Given the description of an element on the screen output the (x, y) to click on. 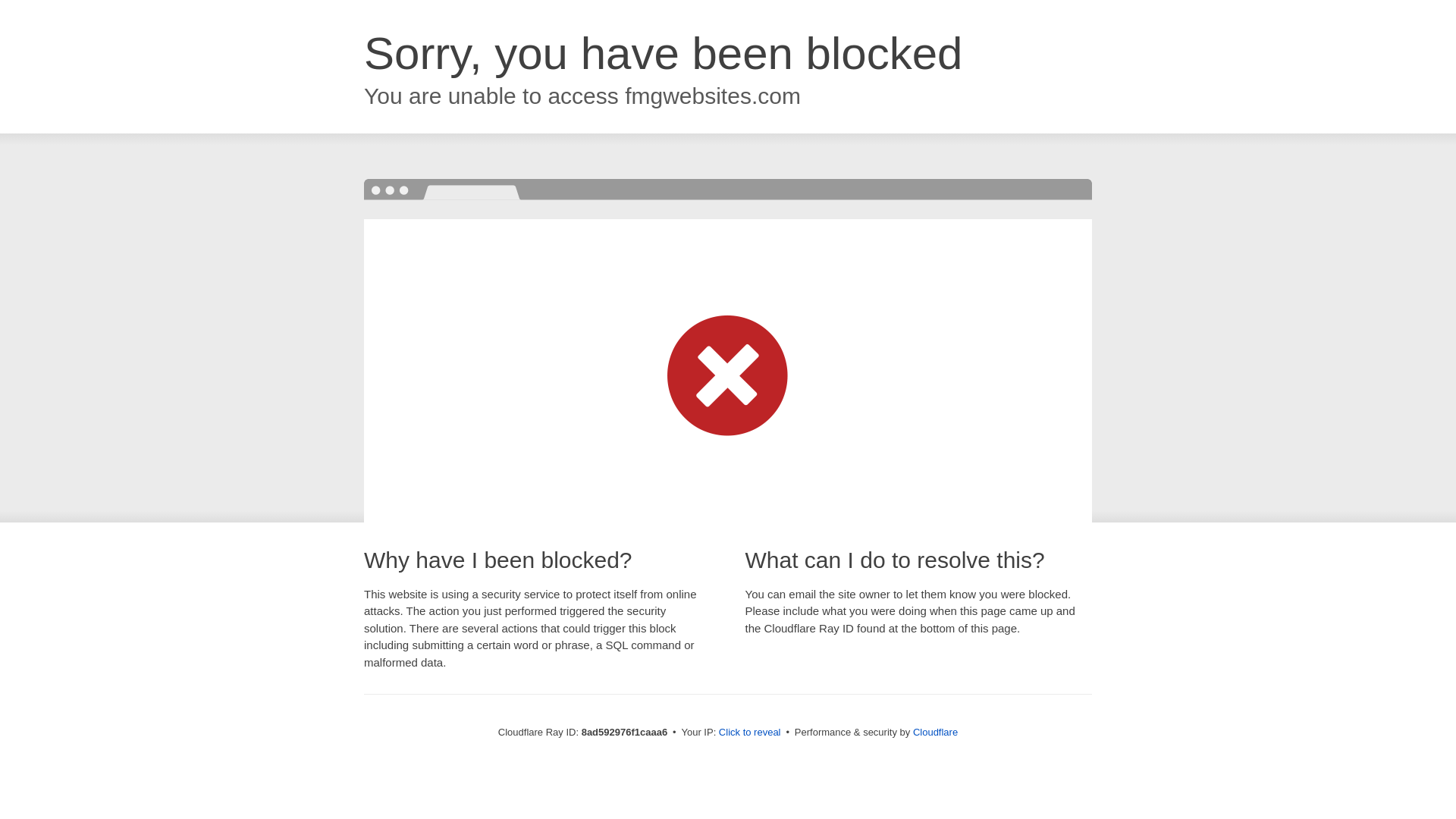
Click to reveal (749, 732)
Cloudflare (935, 731)
